Given the description of an element on the screen output the (x, y) to click on. 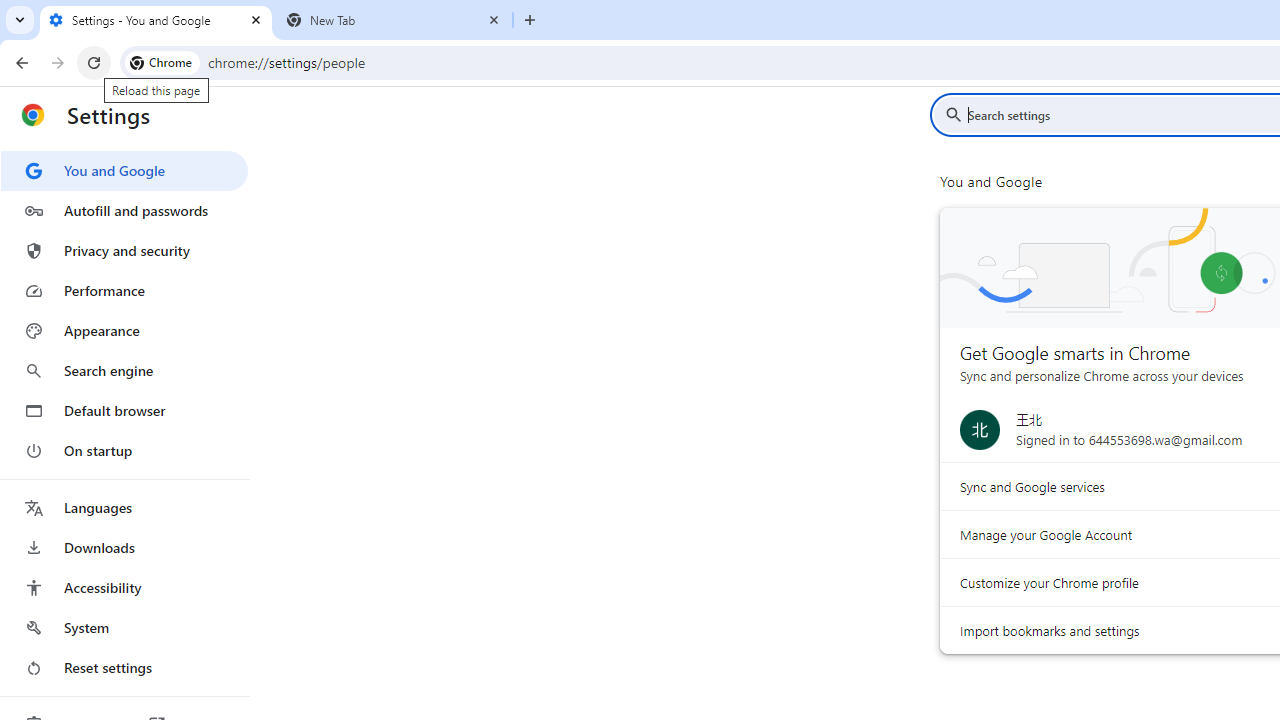
Languages (124, 507)
Performance (124, 290)
Reset settings (124, 668)
Appearance (124, 331)
Downloads (124, 547)
